Given the description of an element on the screen output the (x, y) to click on. 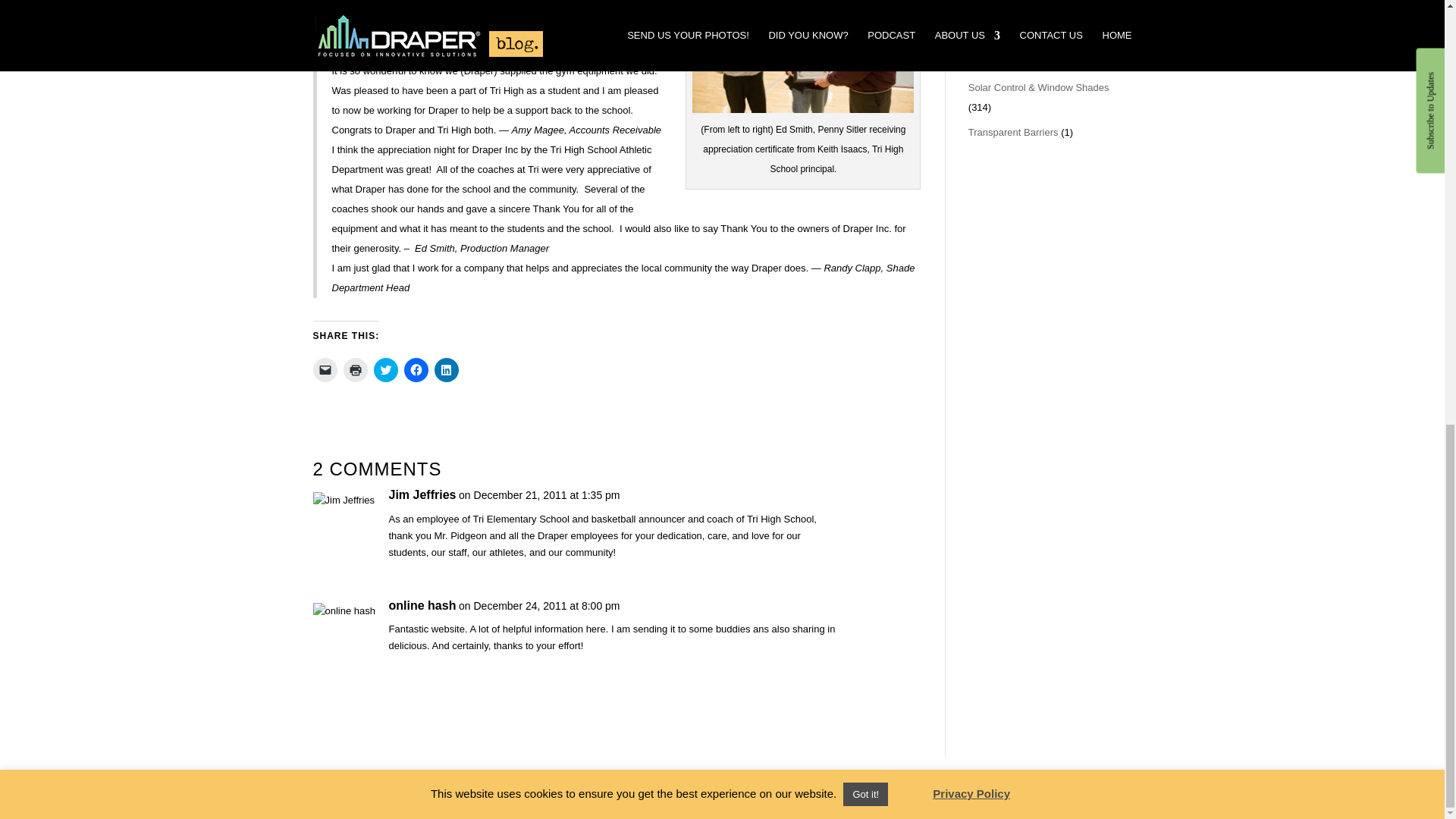
Click to share on Facebook (415, 369)
Click to share on LinkedIn (445, 369)
Click to email a link to a friend (324, 369)
Click to share on Twitter (384, 369)
Click to print (354, 369)
